Given the description of an element on the screen output the (x, y) to click on. 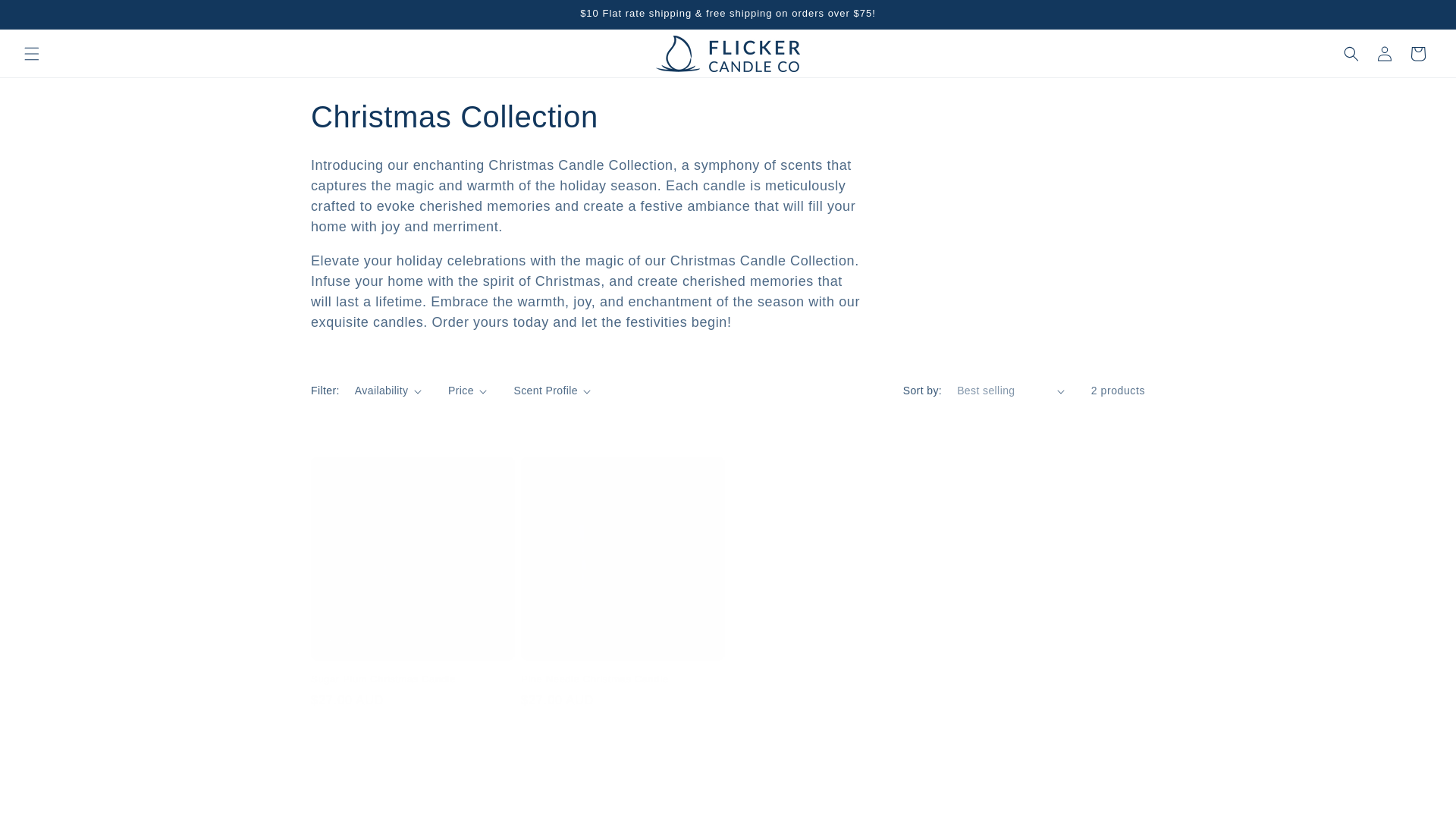
Skip to content (45, 17)
Cart (1417, 52)
Log in (1384, 52)
